Given the description of an element on the screen output the (x, y) to click on. 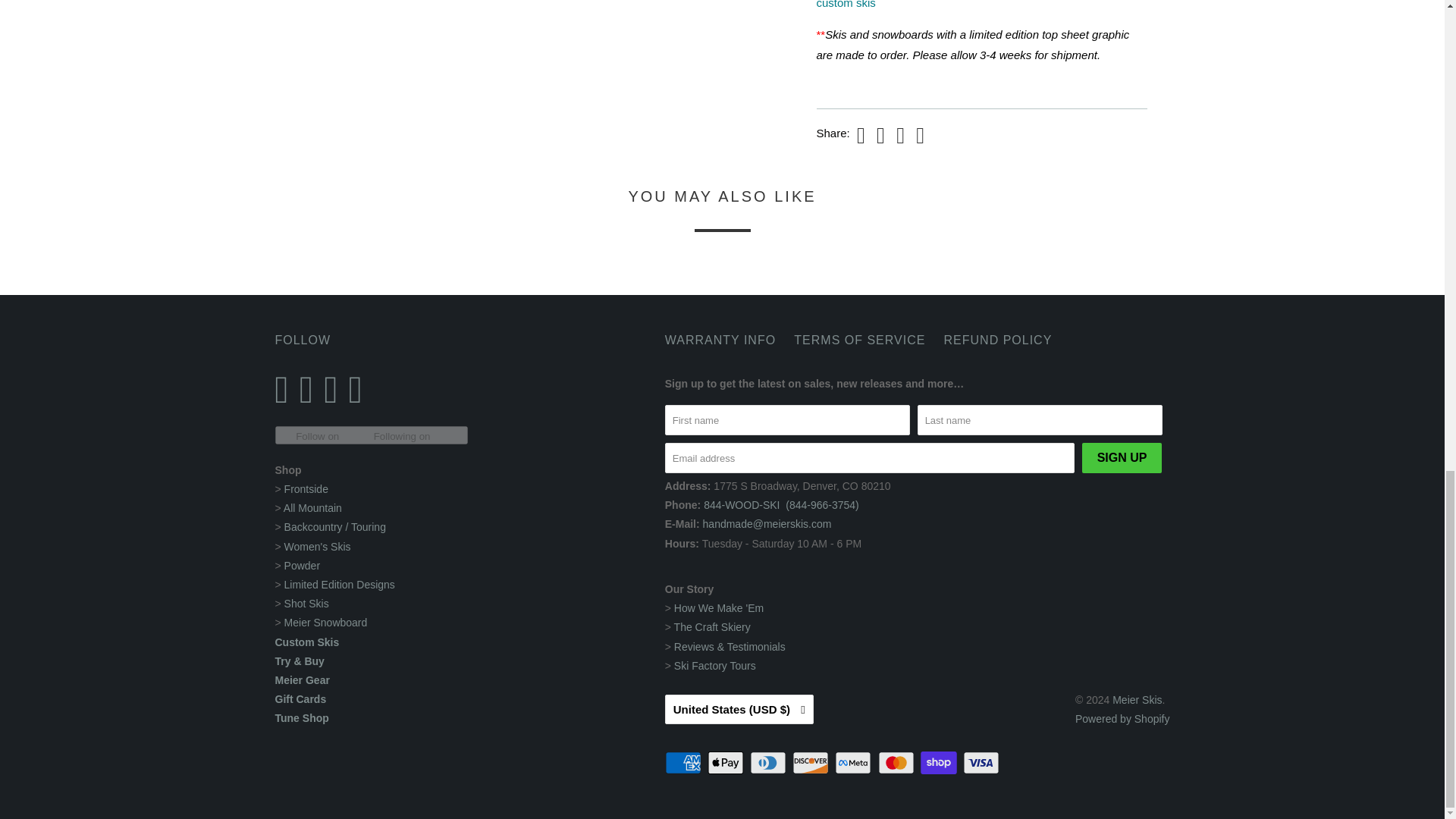
Mastercard (897, 762)
American Express (684, 762)
Meta Pay (854, 762)
Sign Up (1121, 458)
Diners Club (769, 762)
Discover (811, 762)
Visa (982, 762)
Shop Pay (939, 762)
Frenchty artist custom skis (963, 4)
Apple Pay (726, 762)
